Given the description of an element on the screen output the (x, y) to click on. 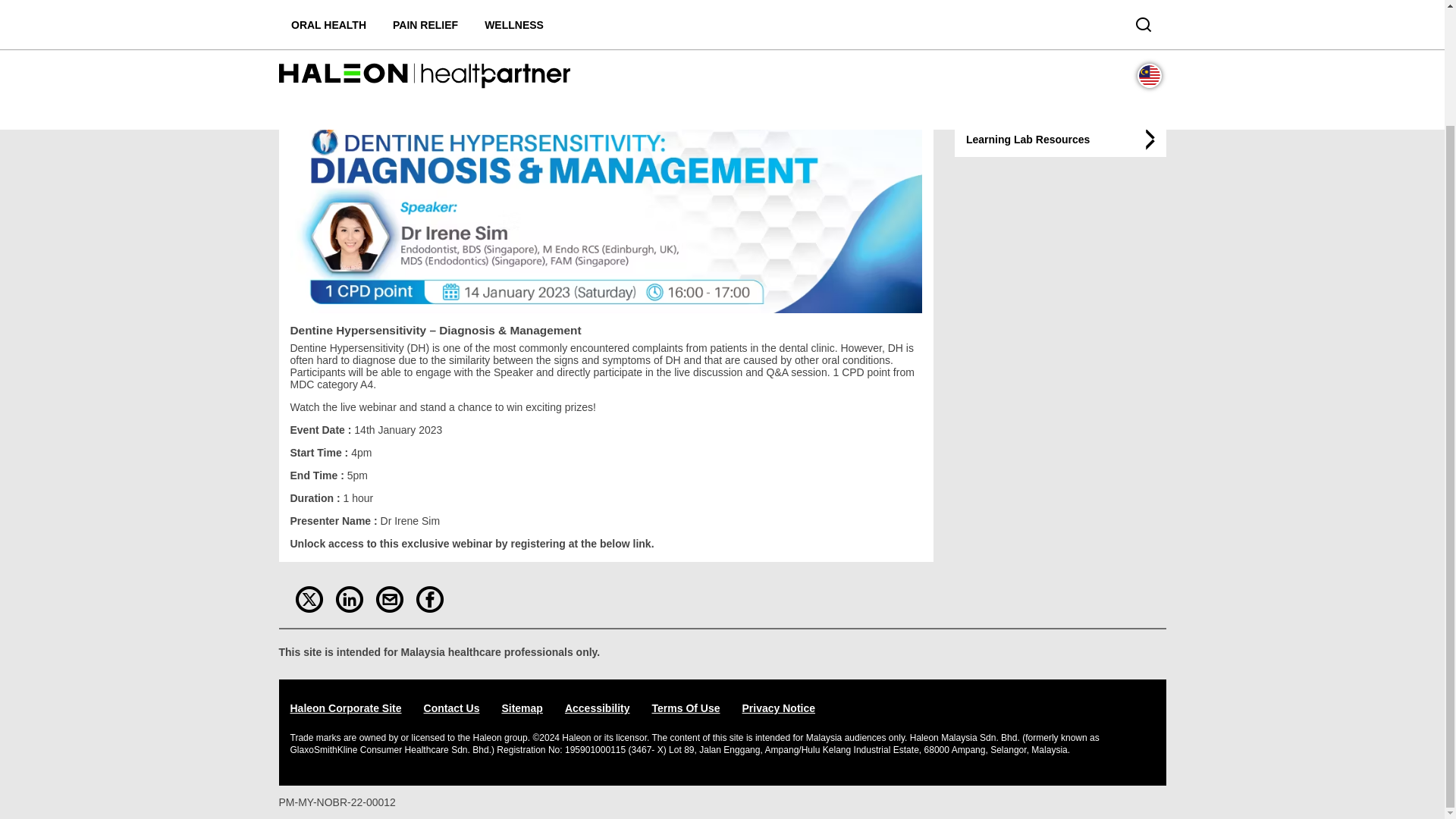
Email (389, 599)
Linkedin (348, 599)
Contact Us (451, 707)
Events (1060, 139)
Accessibility (1060, 93)
News and Events (433, 9)
Privacy Notice (597, 707)
Facebook (367, 9)
